Given the description of an element on the screen output the (x, y) to click on. 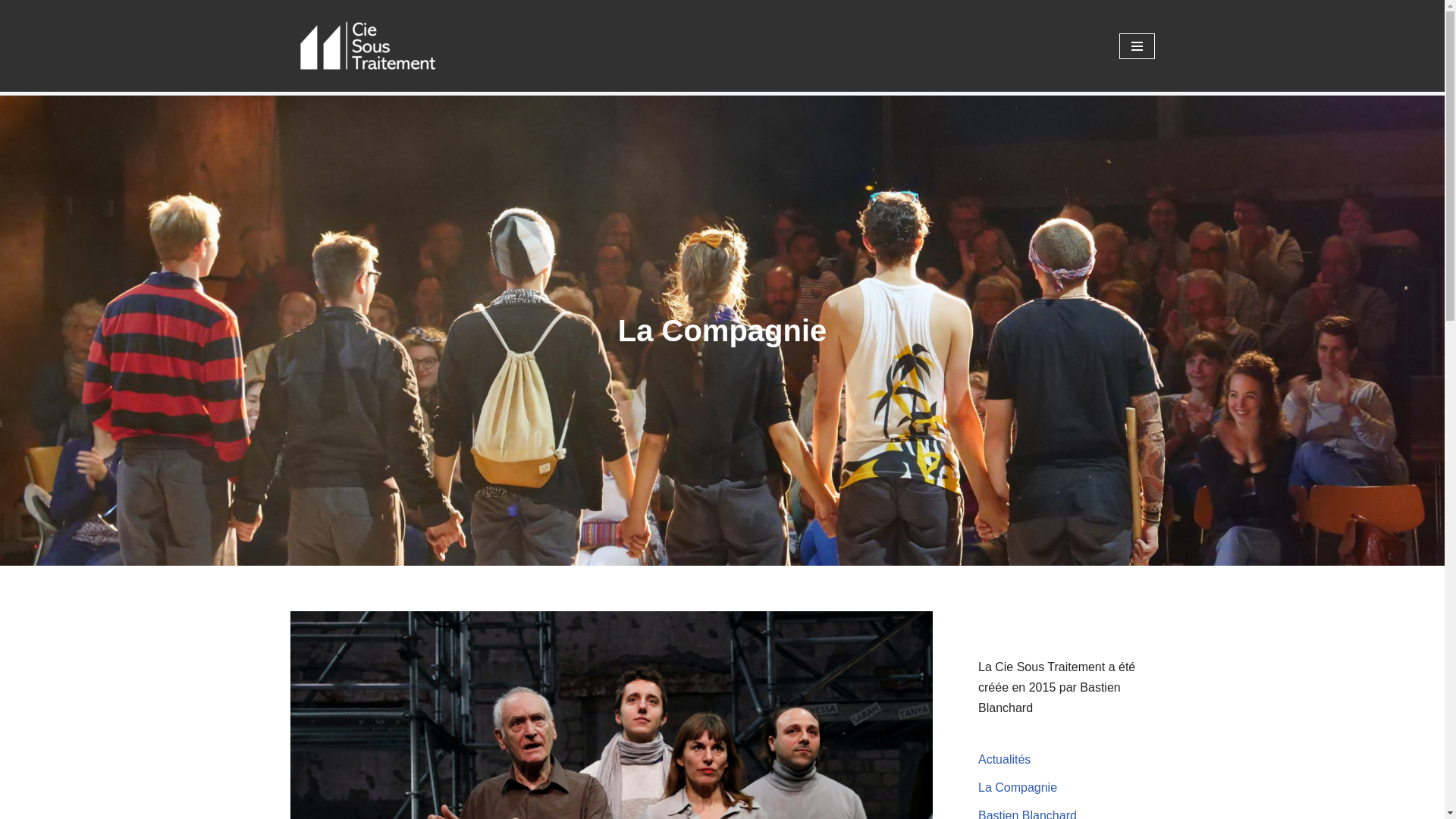
La Compagnie Element type: text (1017, 787)
Menu de navigation Element type: text (1136, 46)
Aller au contenu Element type: text (11, 31)
